Given the description of an element on the screen output the (x, y) to click on. 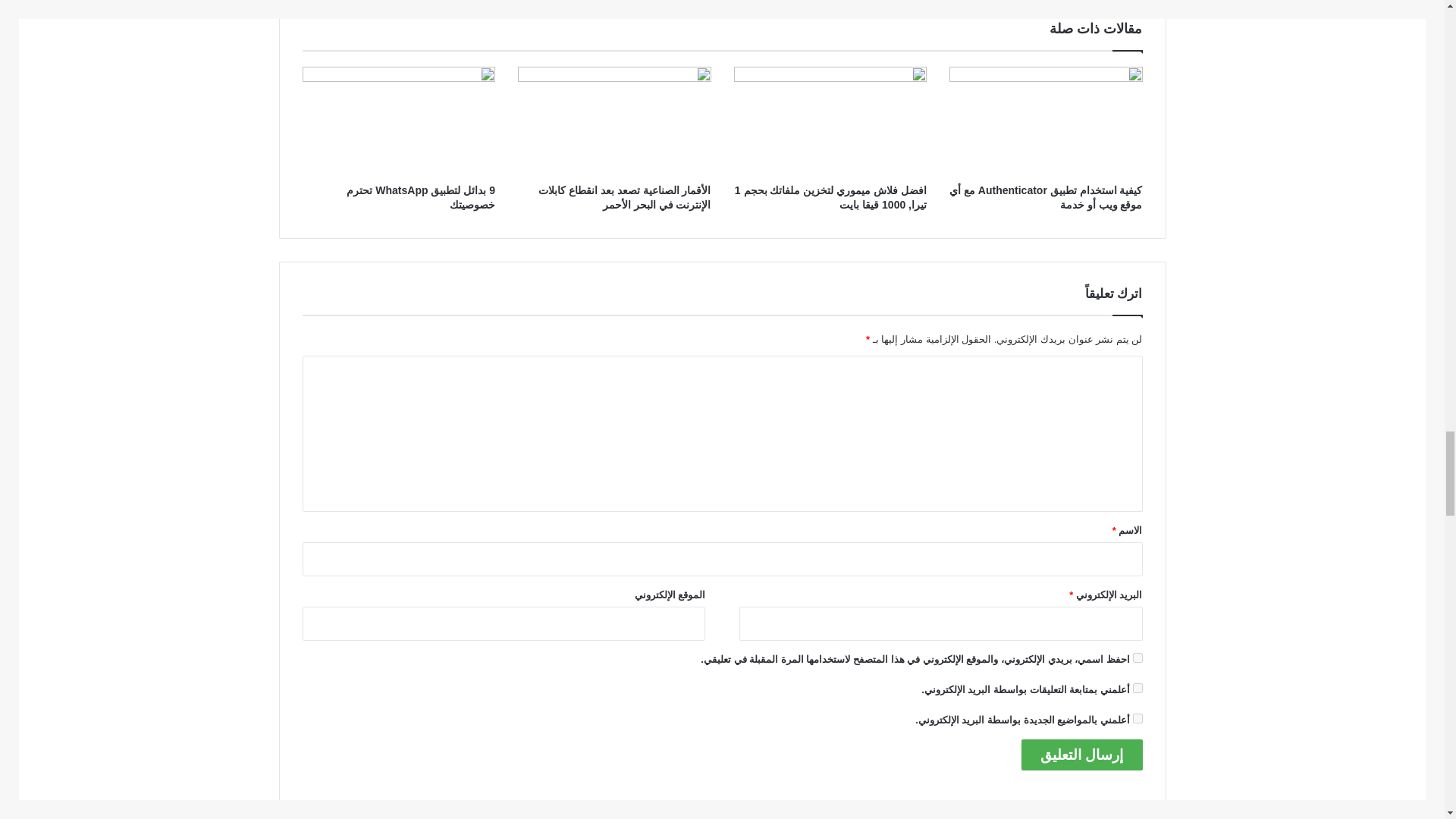
subscribe (1137, 687)
subscribe (1137, 718)
yes (1137, 657)
